Given the description of an element on the screen output the (x, y) to click on. 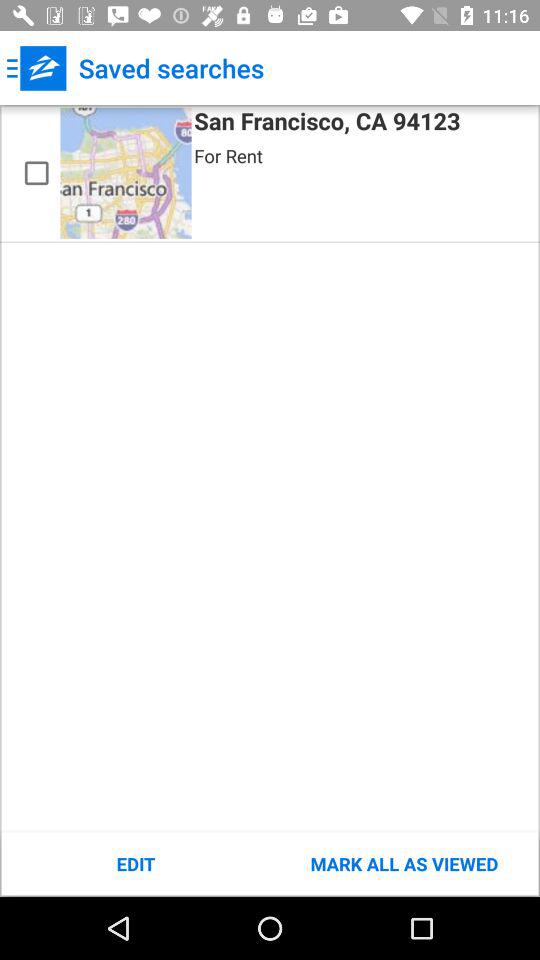
scroll until edit item (135, 863)
